Given the description of an element on the screen output the (x, y) to click on. 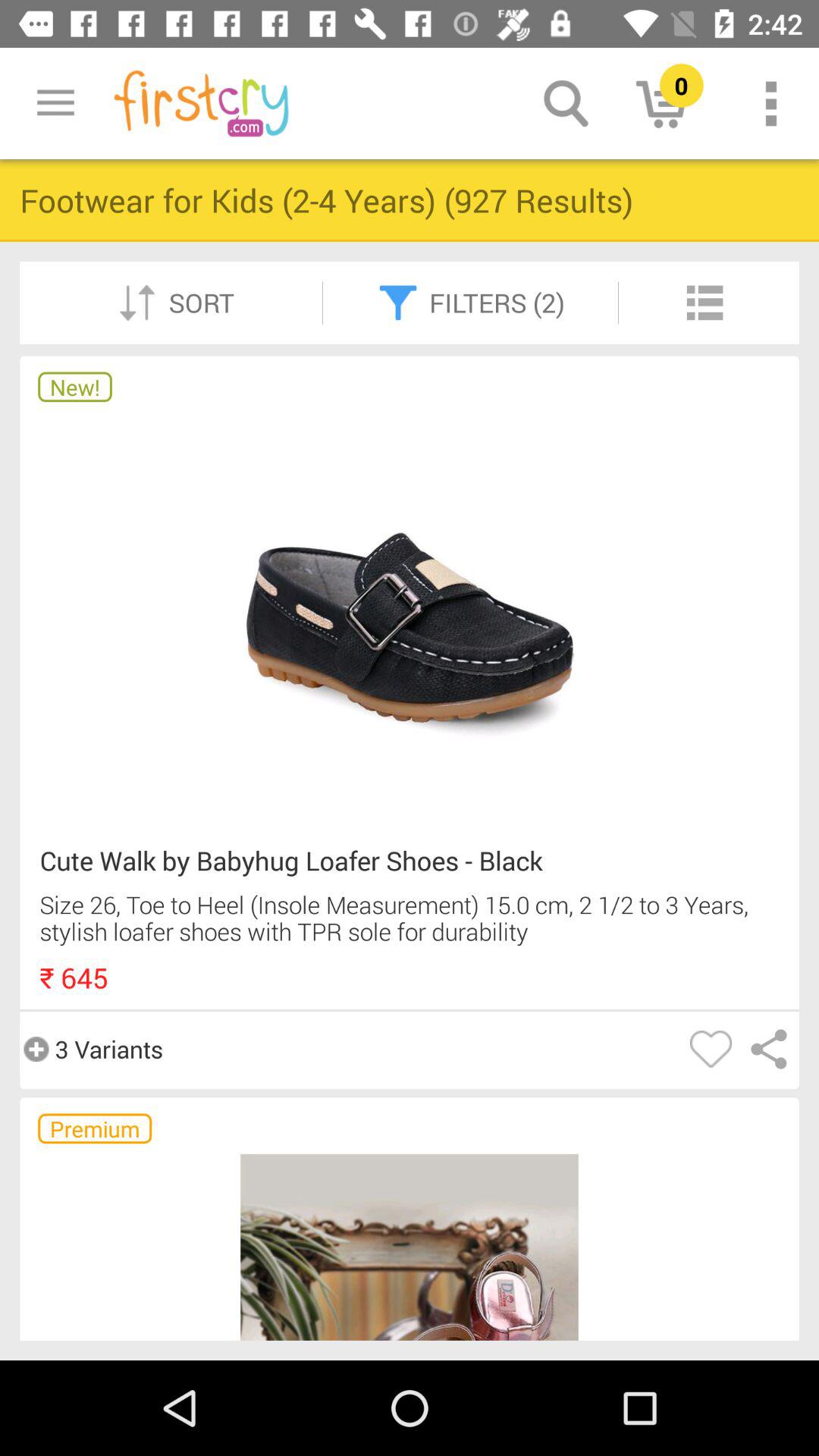
open icon above footwear for kids icon (55, 103)
